Given the description of an element on the screen output the (x, y) to click on. 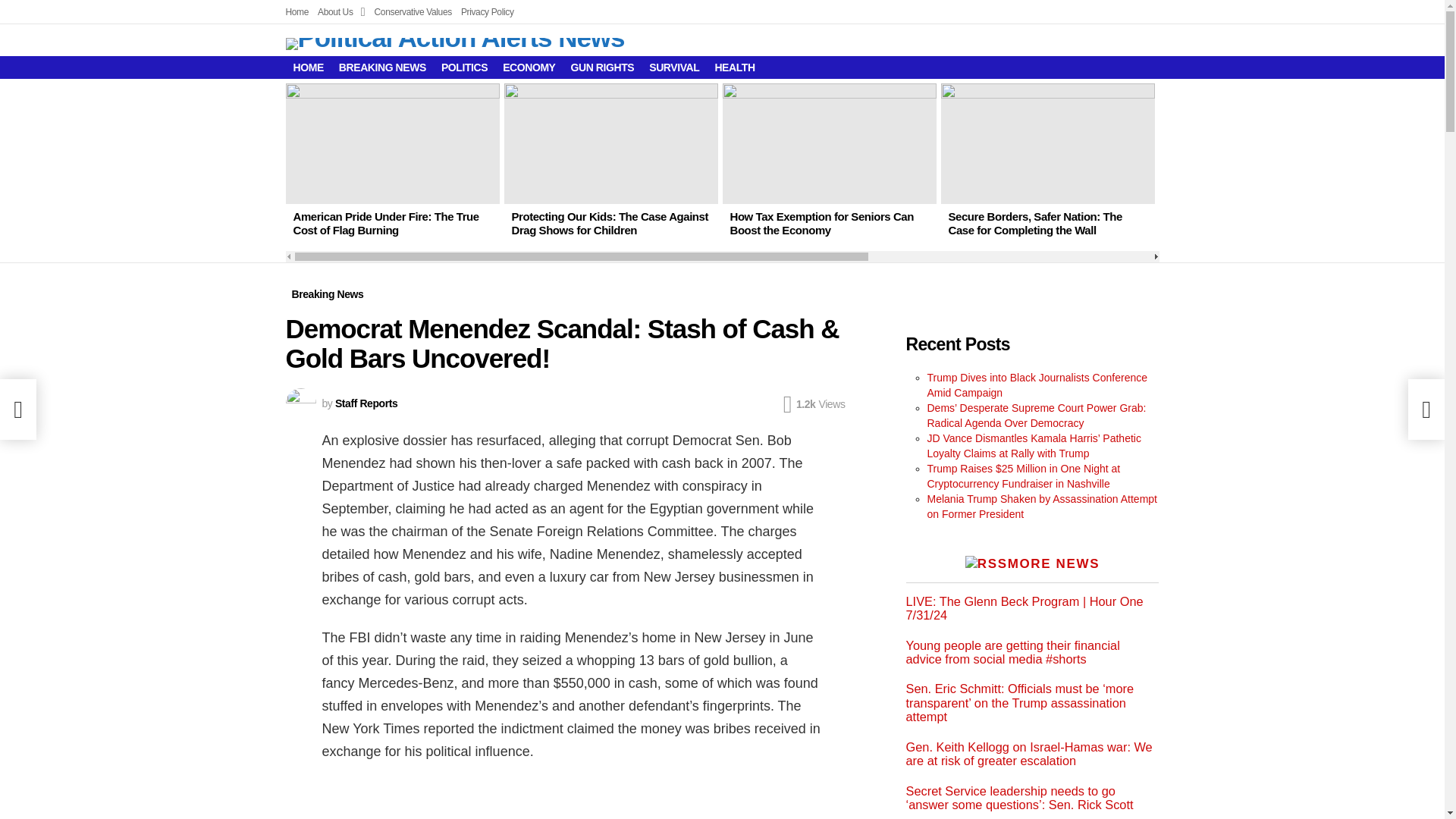
Home (296, 12)
How Tax Exemption for Seniors Can Boost the Economy (829, 143)
SURVIVAL (674, 67)
How Tax Exemption for Seniors Can Boost the Economy (820, 222)
American Pride Under Fire: The True Cost of Flag Burning (385, 222)
Posts by Staff Reports (365, 403)
GUN RIGHTS (602, 67)
American Pride Under Fire: The True Cost of Flag Burning (392, 143)
BREAKING NEWS (382, 67)
Conservative Values (412, 12)
ECONOMY (528, 67)
HOME (307, 67)
